Given the description of an element on the screen output the (x, y) to click on. 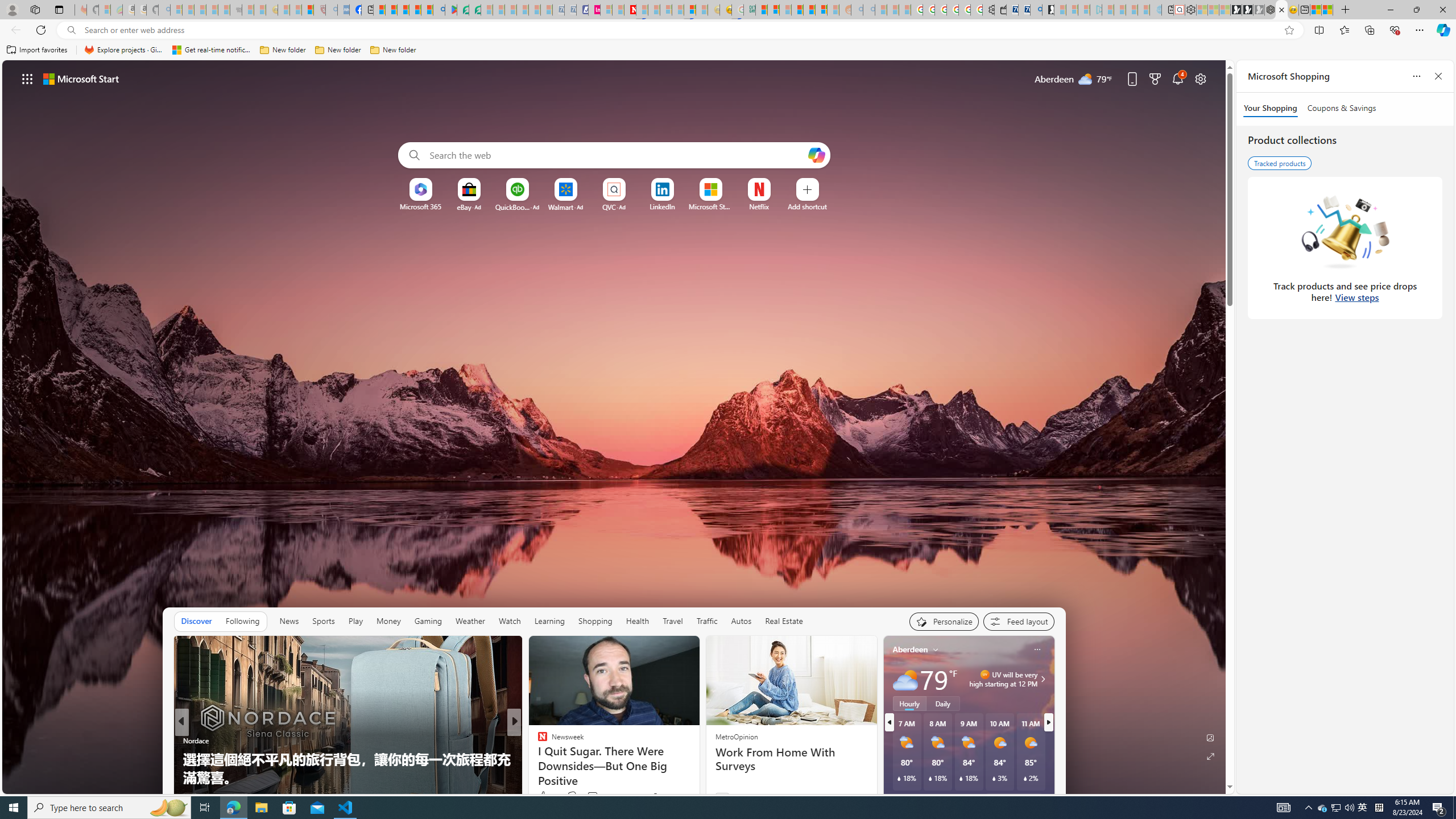
Nature of Home (537, 758)
Hourly (909, 703)
View comments 48 Comment (597, 796)
